Given the description of an element on the screen output the (x, y) to click on. 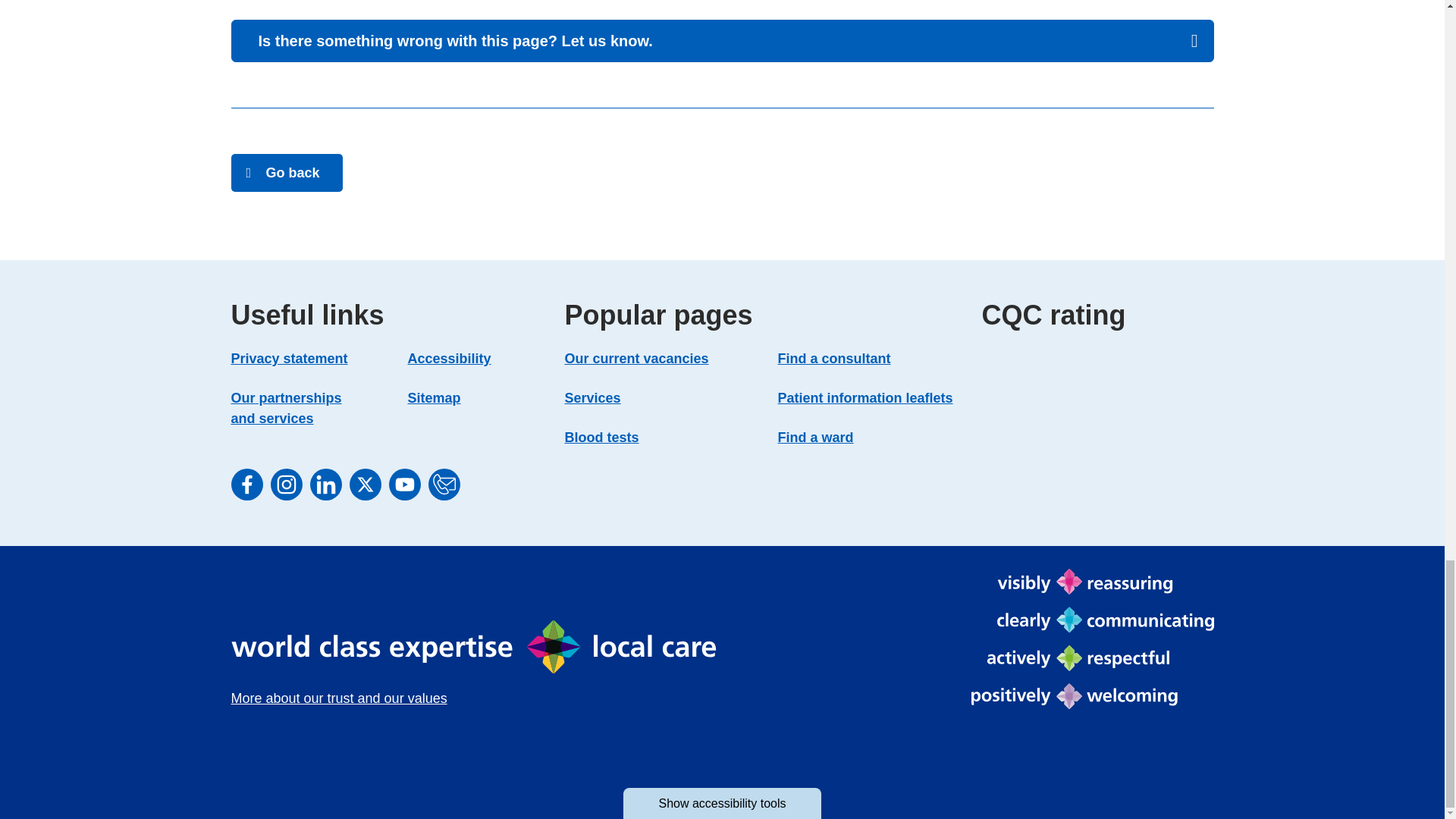
Instagram (285, 484)
Facebook (246, 484)
Youtube (404, 484)
LinkedIn (324, 484)
X (364, 484)
Go back to Other sites (286, 172)
Email (444, 484)
